Given the description of an element on the screen output the (x, y) to click on. 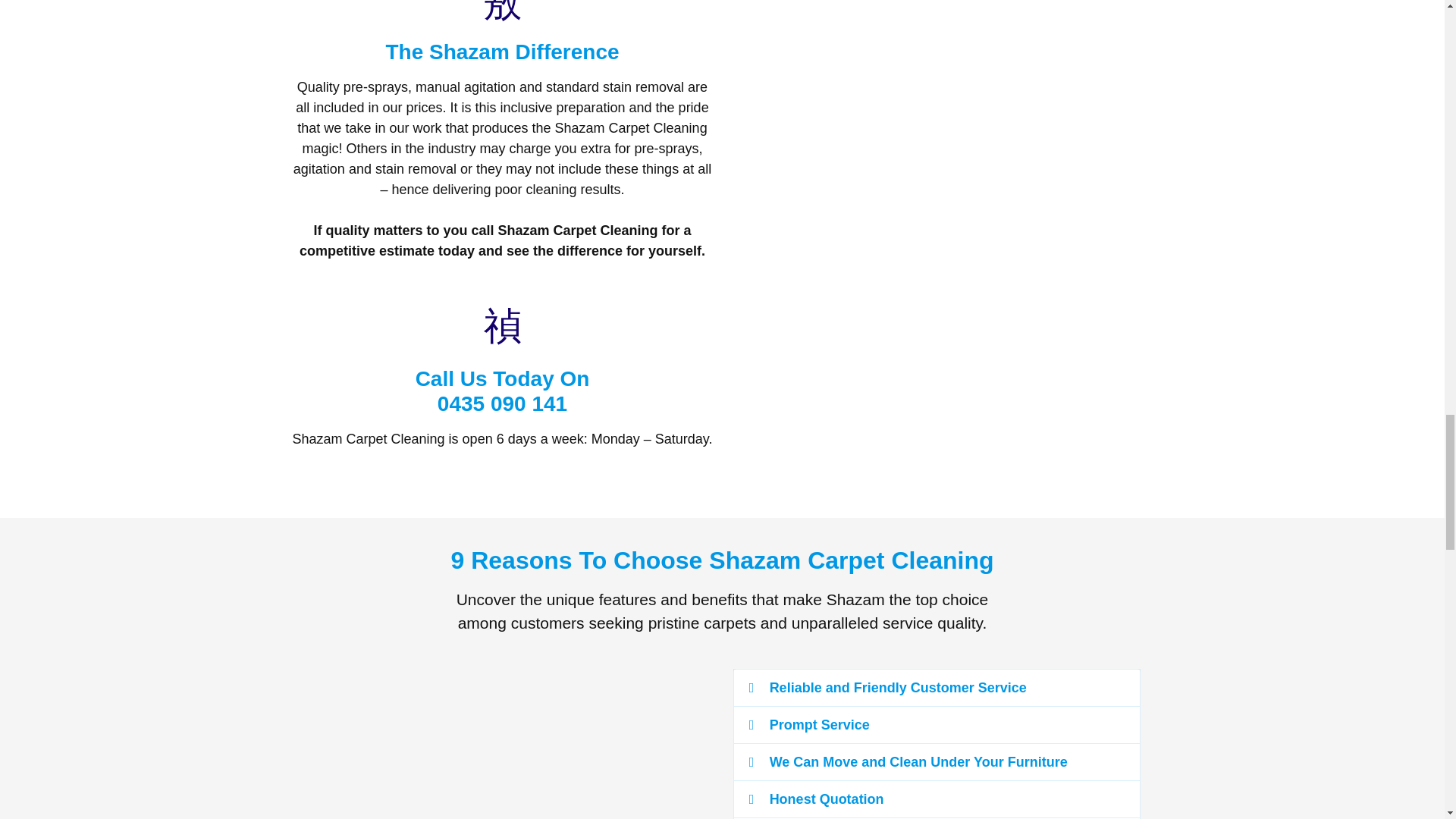
Honest Quotation (826, 798)
Prompt Service (501, 391)
We Can Move and Clean Under Your Furniture (819, 724)
Reliable and Friendly Customer Service (918, 761)
